Given the description of an element on the screen output the (x, y) to click on. 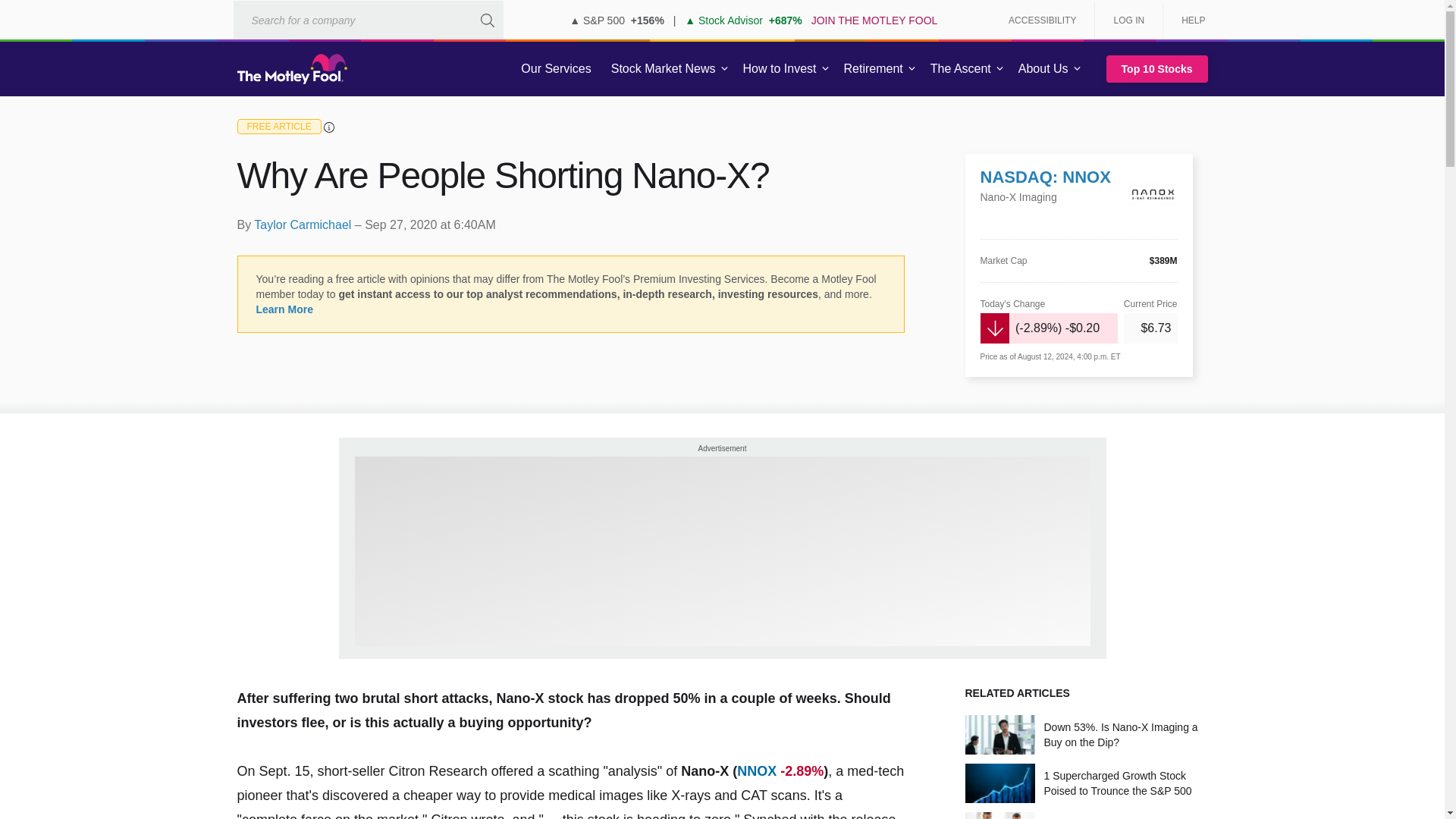
How to Invest (779, 68)
LOG IN (1128, 19)
Our Services (555, 68)
Stock Market News (662, 68)
HELP (1187, 19)
ACCESSIBILITY (1042, 19)
